Given the description of an element on the screen output the (x, y) to click on. 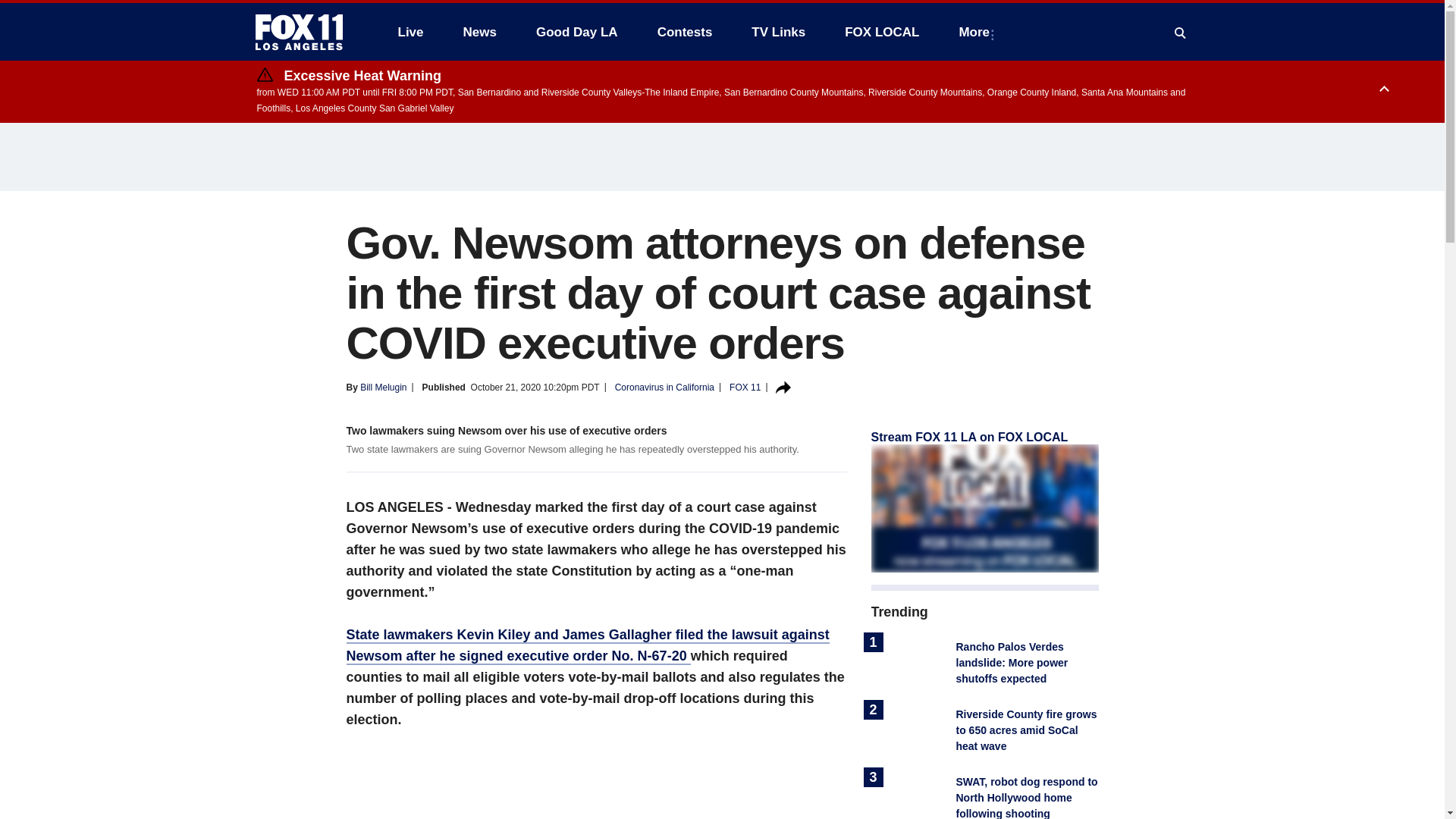
Good Day LA (577, 32)
More (976, 32)
TV Links (777, 32)
News (479, 32)
Live (410, 32)
FOX LOCAL (881, 32)
Contests (685, 32)
